Given the description of an element on the screen output the (x, y) to click on. 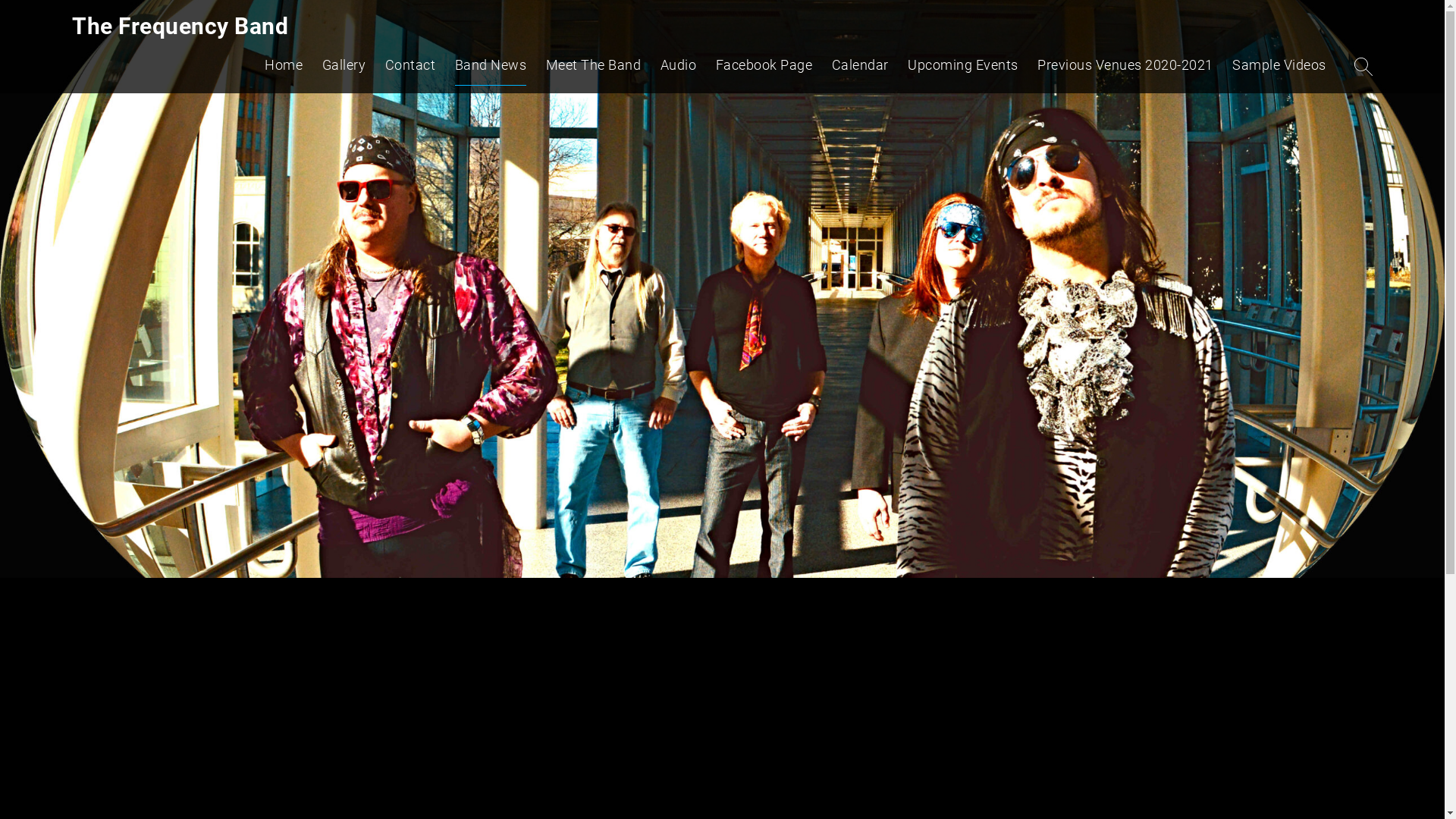
The Frequency Band Element type: text (180, 25)
Band News Element type: text (491, 68)
Sample Videos Element type: text (1279, 68)
Upcoming Events Element type: text (962, 68)
Facebook Page Element type: text (763, 68)
Meet The Band Element type: text (593, 68)
Previous Venues 2020-2021 Element type: text (1125, 68)
Gallery Element type: text (344, 68)
Contact Element type: text (410, 68)
Audio Element type: text (678, 68)
Home Element type: text (283, 68)
Calendar Element type: text (859, 68)
